Given the description of an element on the screen output the (x, y) to click on. 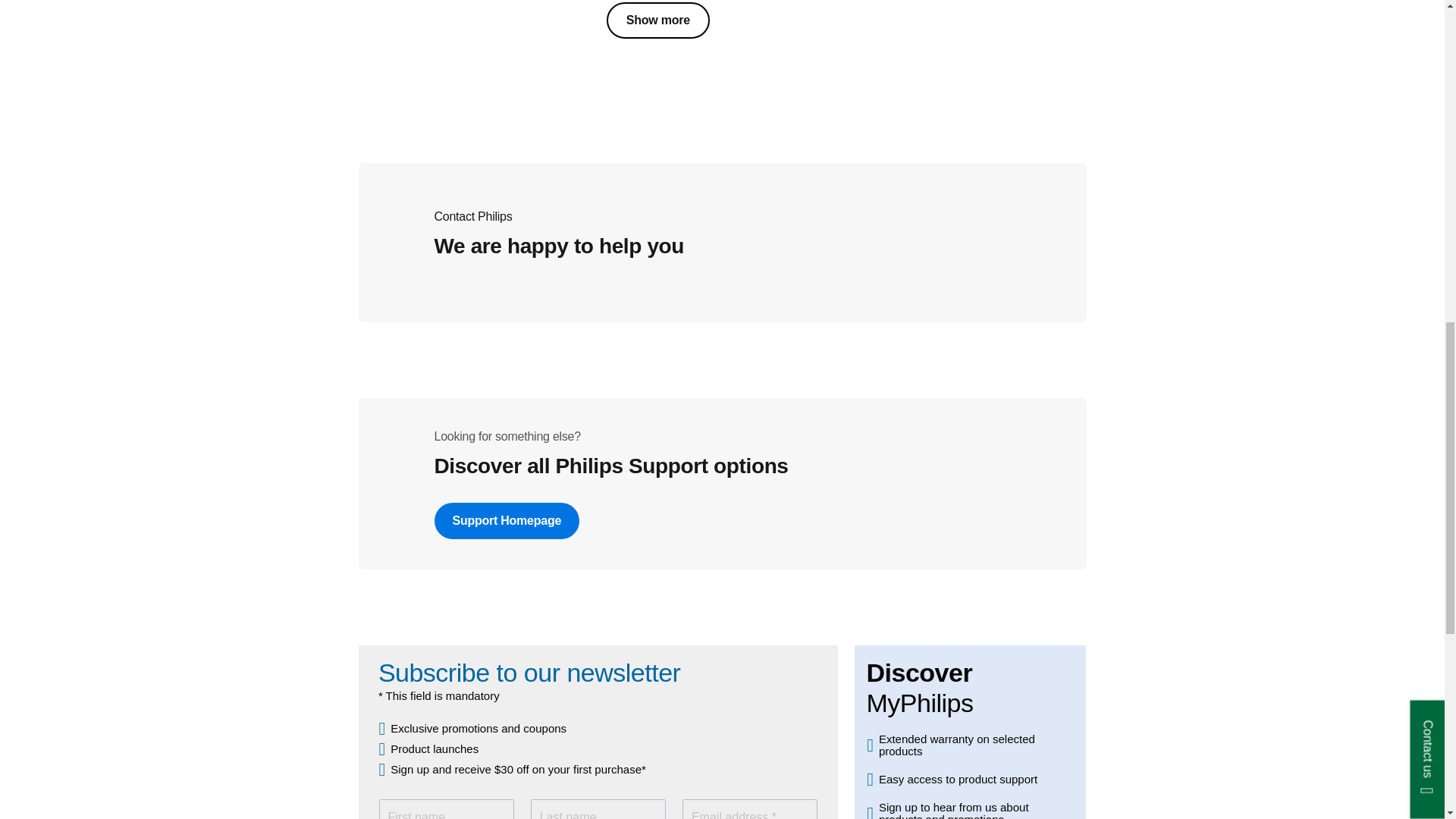
This field is required (749, 809)
First name (445, 809)
Last name (598, 809)
